Given the description of an element on the screen output the (x, y) to click on. 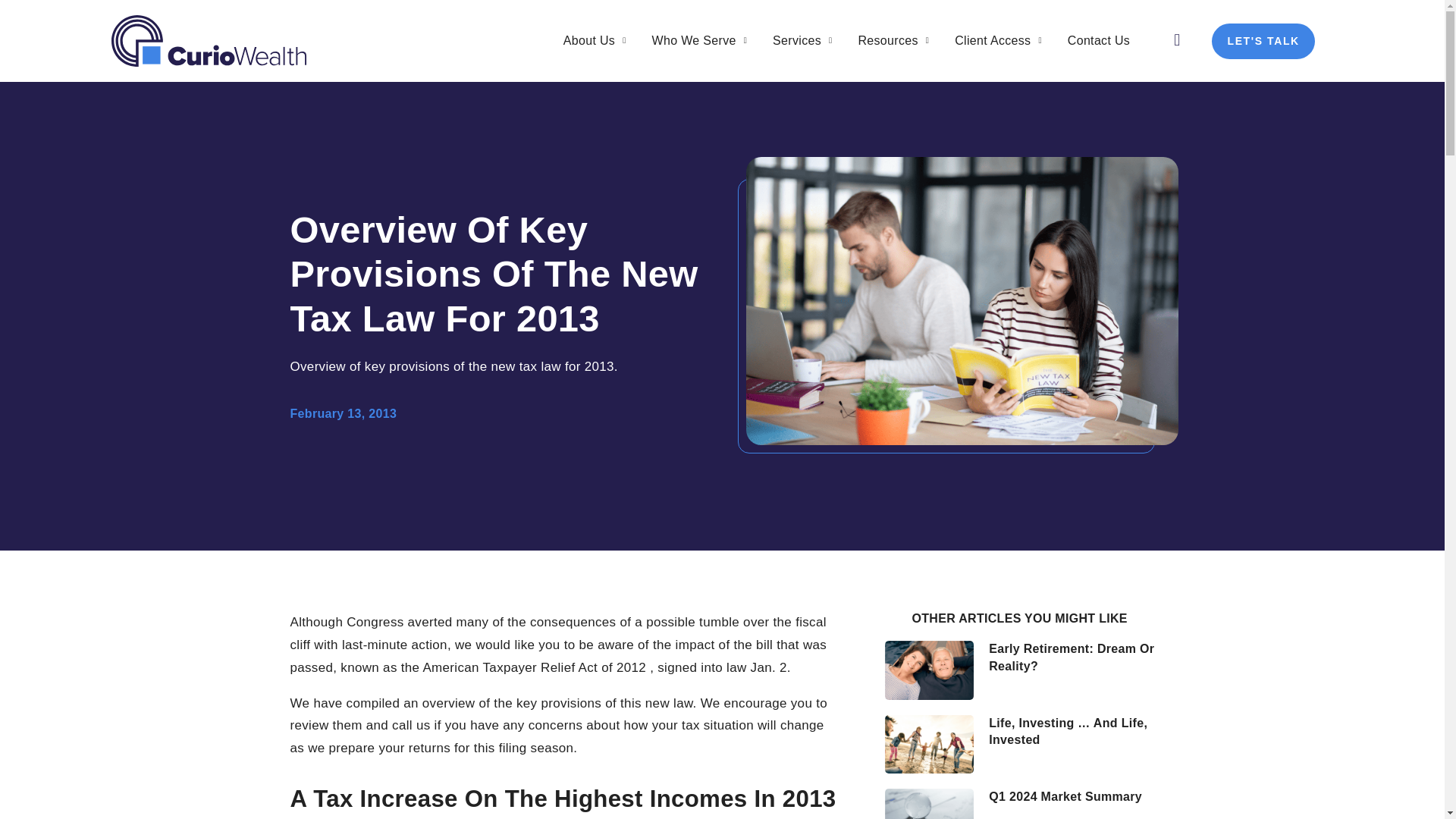
About Us (595, 40)
Resources (892, 40)
Services (802, 40)
Who We Serve (700, 40)
Client Access (998, 40)
Contact Us (1098, 40)
